Given the description of an element on the screen output the (x, y) to click on. 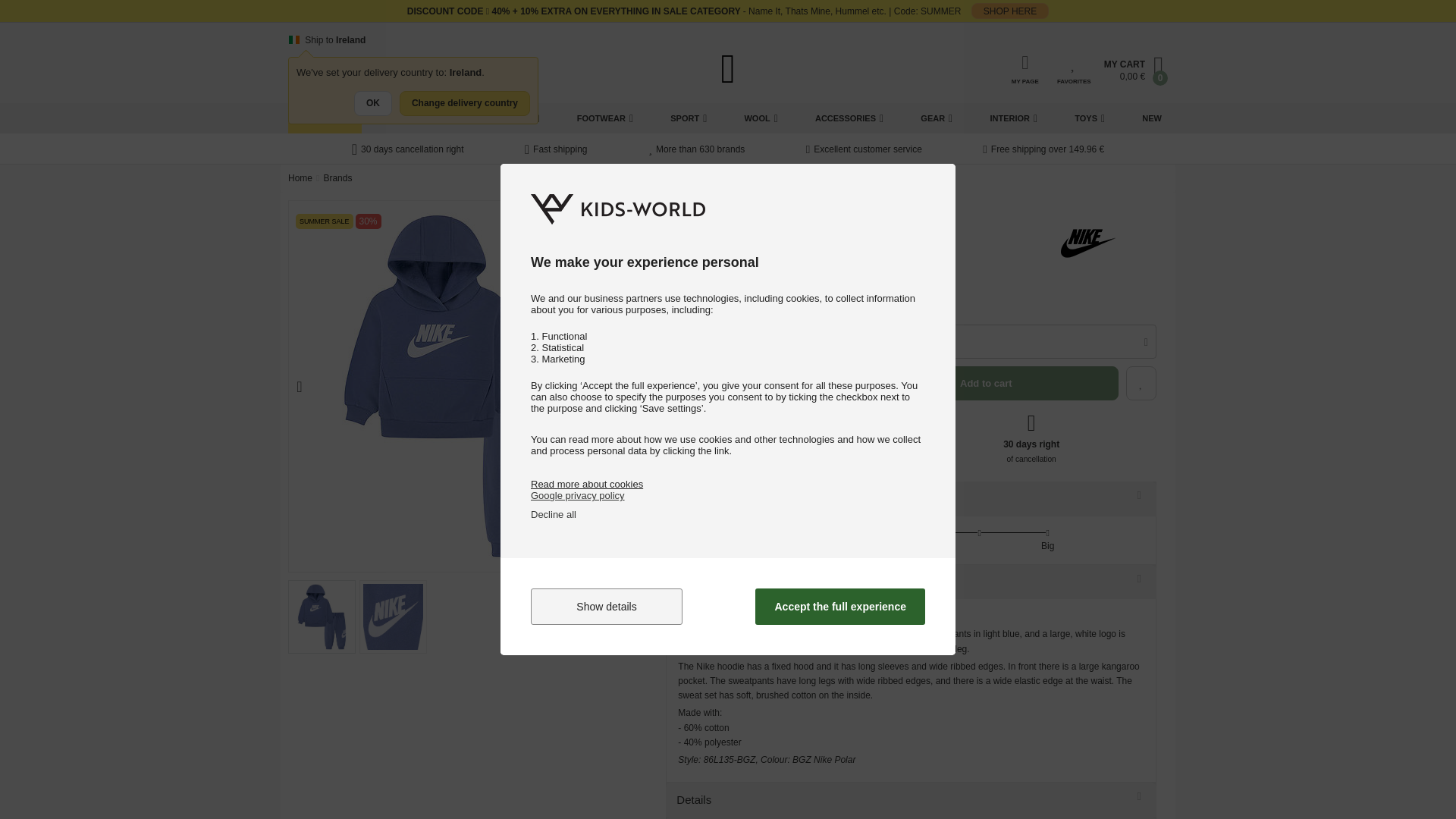
Decline all (553, 514)
Show details (606, 606)
1 (687, 341)
Google privacy policy (577, 495)
Accept the full experience (839, 606)
Read more about cookies (587, 483)
